Given the description of an element on the screen output the (x, y) to click on. 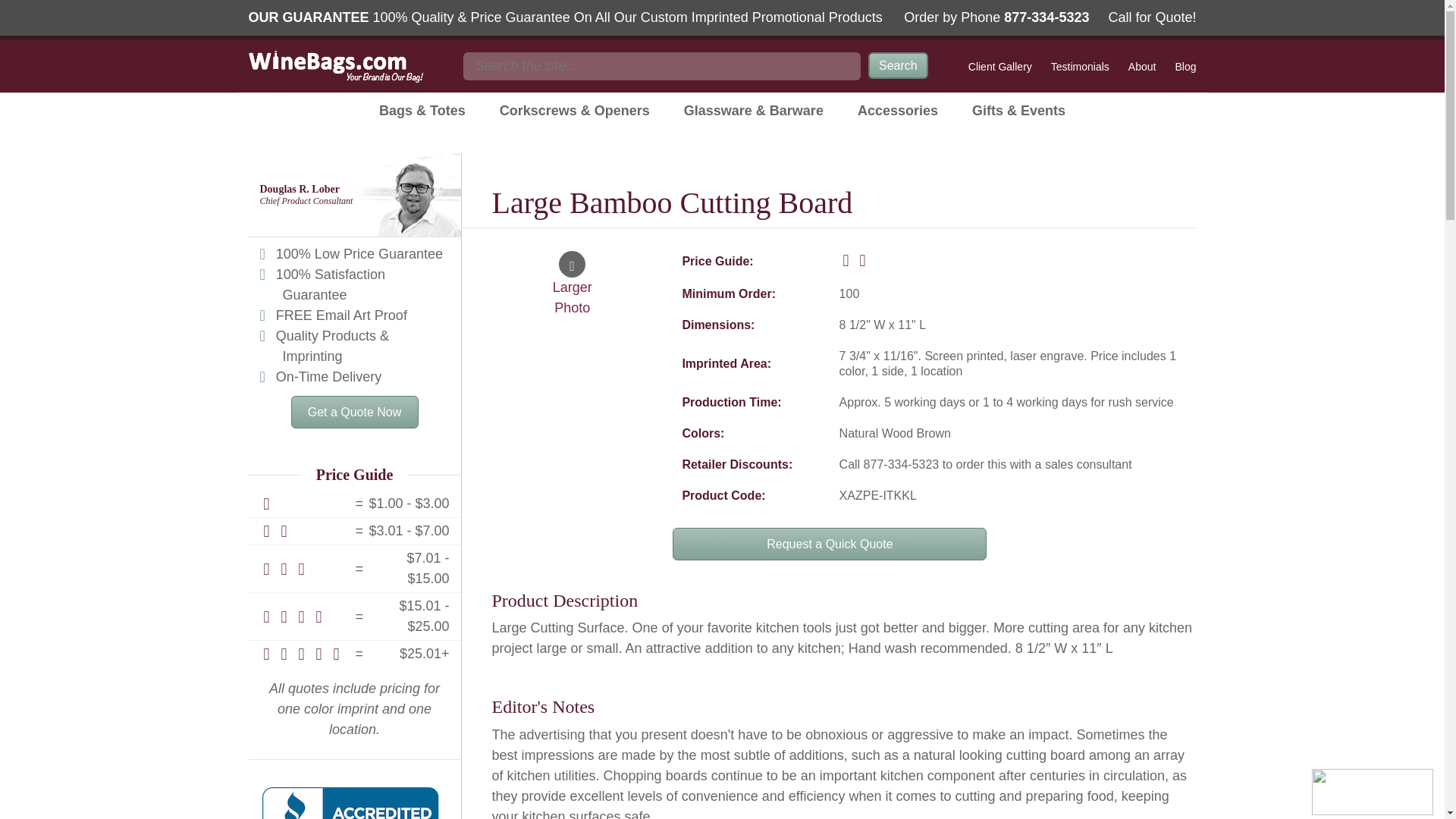
About (1142, 66)
Get a Bag Quote (355, 411)
Accessories (898, 111)
Search (897, 65)
WineBags.com (335, 66)
Larger Photo (572, 282)
Testimonials (1079, 66)
Client Gallery (1003, 66)
Blog (1181, 66)
Request a Quick Quote (829, 543)
